Given the description of an element on the screen output the (x, y) to click on. 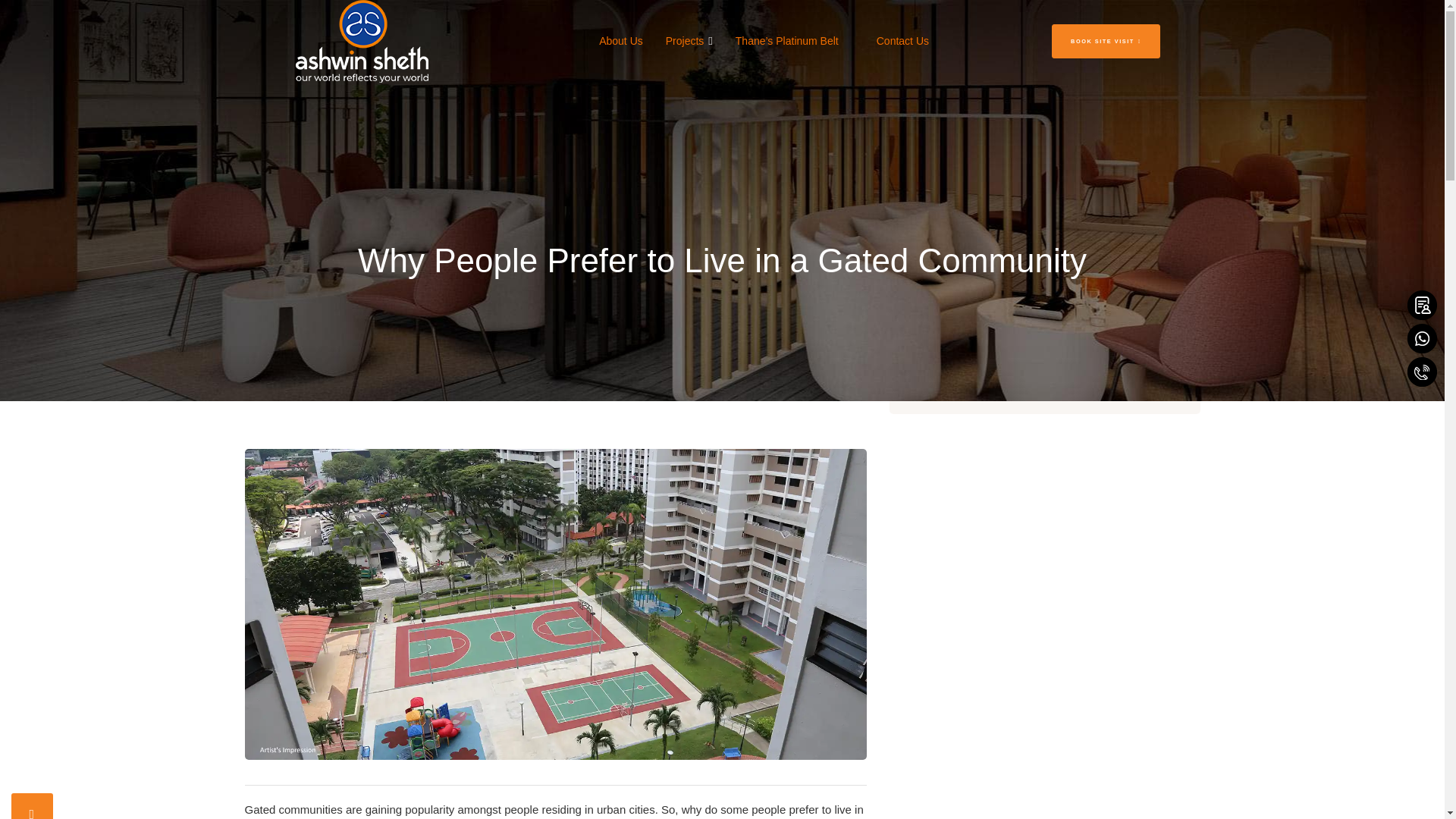
Enquiry form (1422, 305)
BOOK SITE VISIT (1105, 41)
Whats app (1422, 337)
Call us (1422, 371)
Contact Us (902, 41)
